Given the description of an element on the screen output the (x, y) to click on. 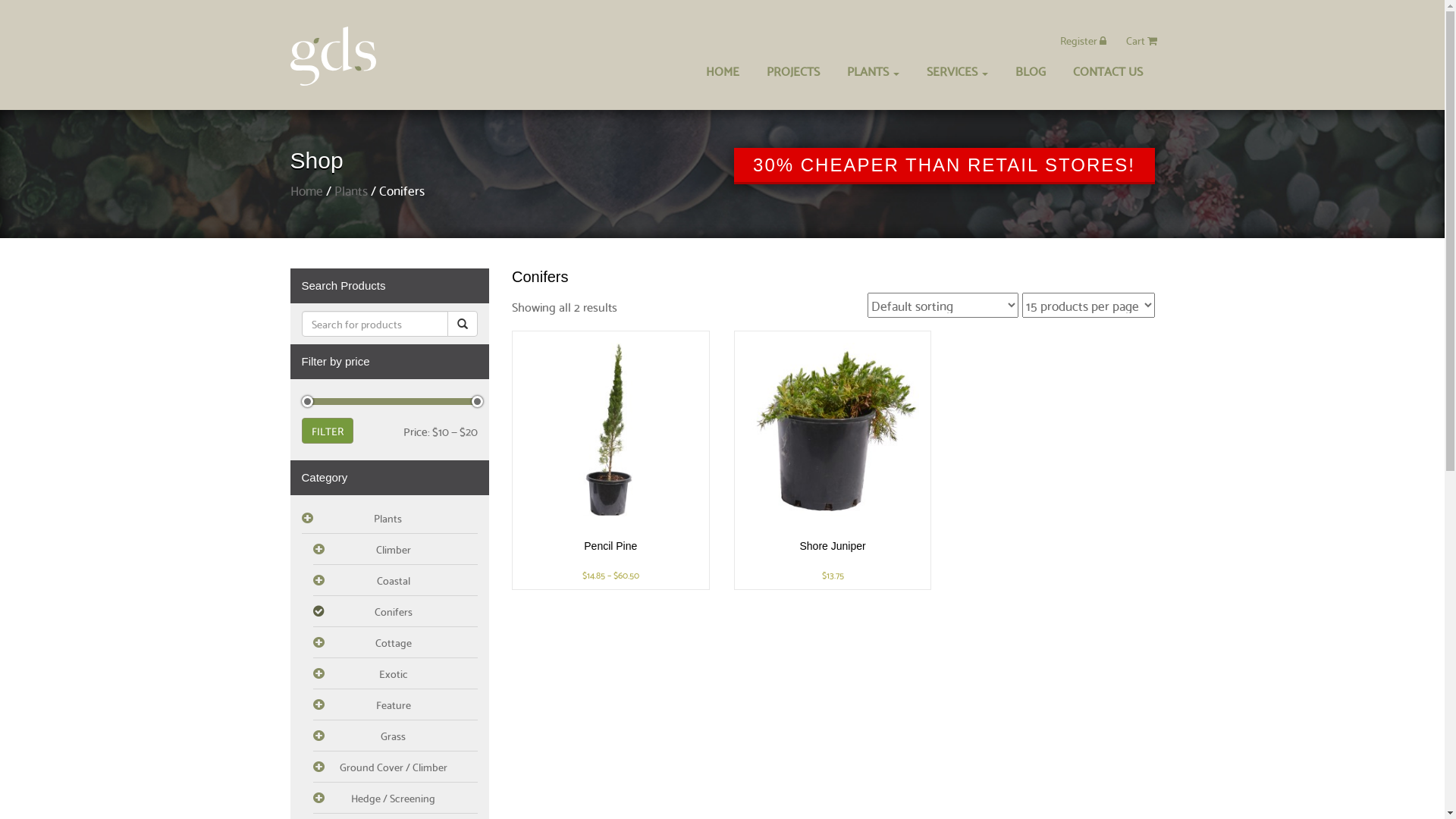
PLANTS Element type: text (872, 70)
Grass Element type: text (394, 735)
Plants Element type: text (350, 189)
BLOG Element type: text (1029, 70)
Home Element type: text (305, 189)
Register Element type: text (1083, 39)
Shore Juniper
$13.75 Element type: text (832, 459)
Conifers Element type: text (394, 611)
Climber Element type: text (394, 548)
Cart Element type: text (1140, 39)
Exotic Element type: text (394, 673)
Cottage Element type: text (394, 642)
HOME Element type: text (721, 70)
PROJECTS Element type: text (792, 70)
Feature Element type: text (394, 704)
Plants Element type: text (389, 517)
Hedge / Screening Element type: text (394, 797)
SERVICES Element type: text (957, 70)
Coastal Element type: text (394, 580)
FILTER Element type: text (327, 430)
CONTACT US Element type: text (1107, 70)
Ground Cover / Climber Element type: text (394, 766)
